Given the description of an element on the screen output the (x, y) to click on. 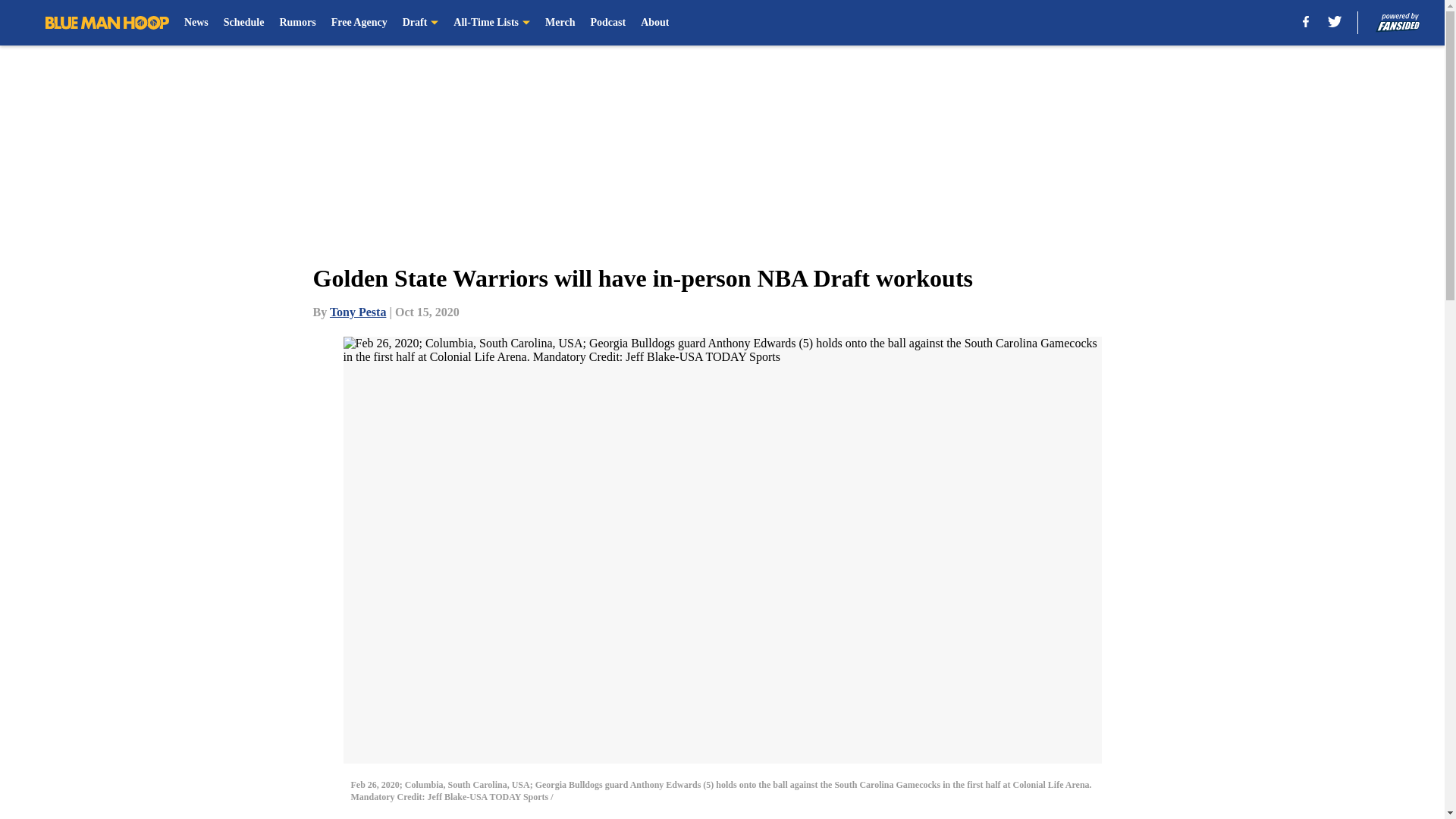
Free Agency (359, 22)
Draft (421, 22)
Merch (559, 22)
Tony Pesta (358, 311)
Podcast (607, 22)
Schedule (244, 22)
All-Time Lists (490, 22)
News (196, 22)
About (654, 22)
Rumors (297, 22)
